Given the description of an element on the screen output the (x, y) to click on. 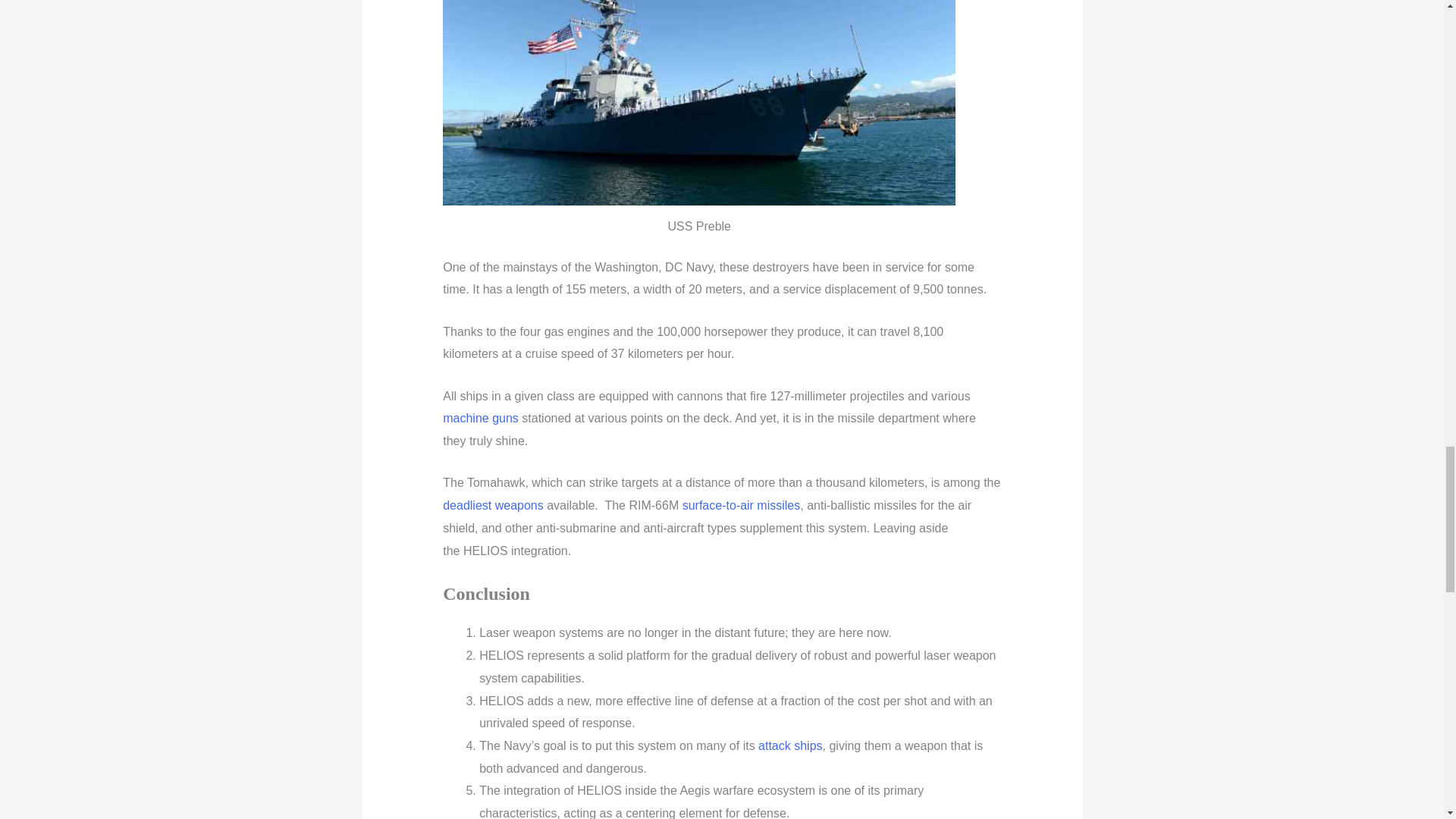
surface-to-air missiles (741, 504)
machine guns (480, 418)
attack ships (790, 745)
deadliest weapons (492, 504)
